Given the description of an element on the screen output the (x, y) to click on. 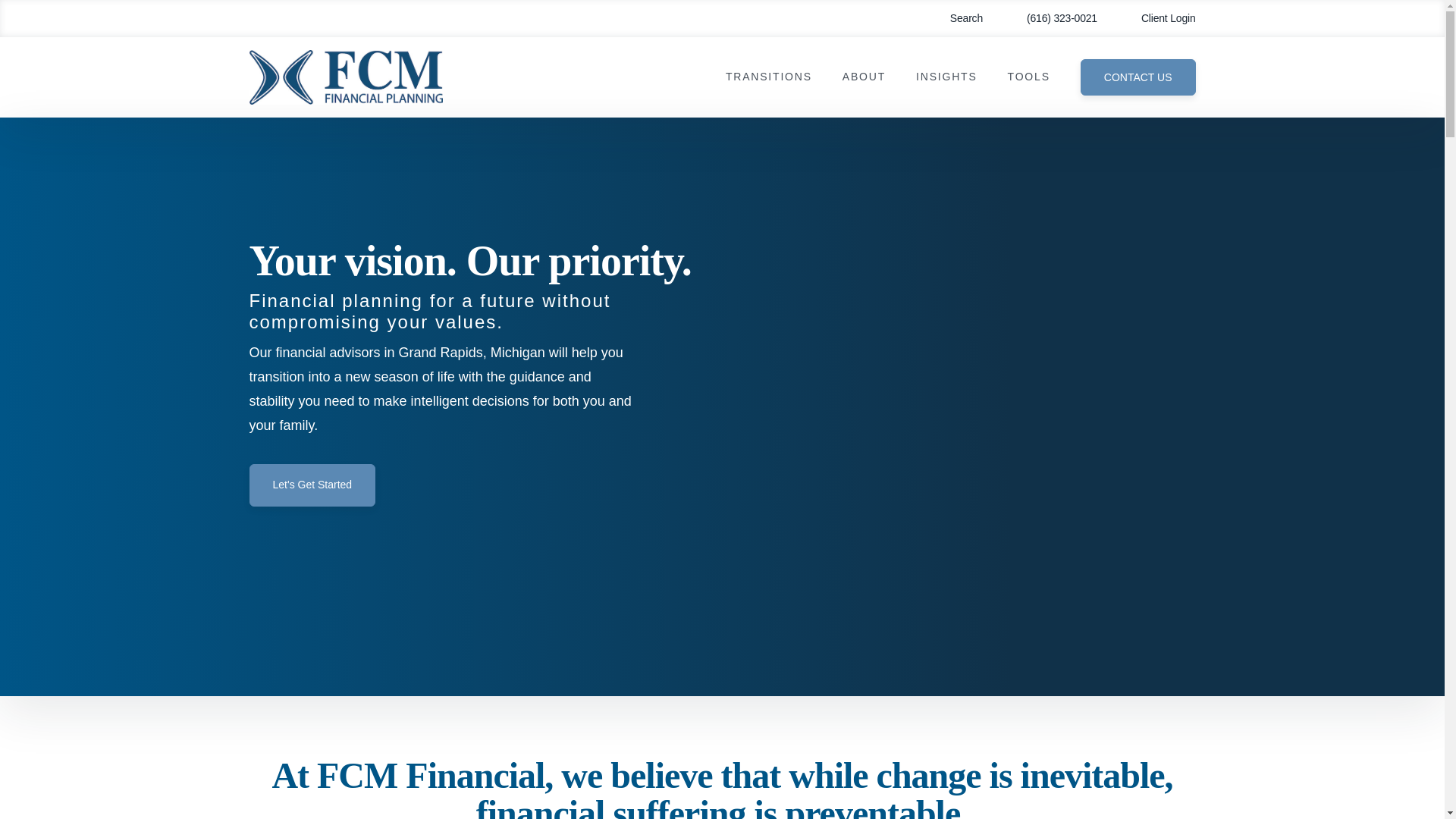
TOOLS (1028, 77)
INSIGHTS (945, 77)
ABOUT (864, 77)
Search (955, 18)
TRANSITIONS (768, 77)
Client Login (1157, 18)
CONTACT US (1137, 76)
